Given the description of an element on the screen output the (x, y) to click on. 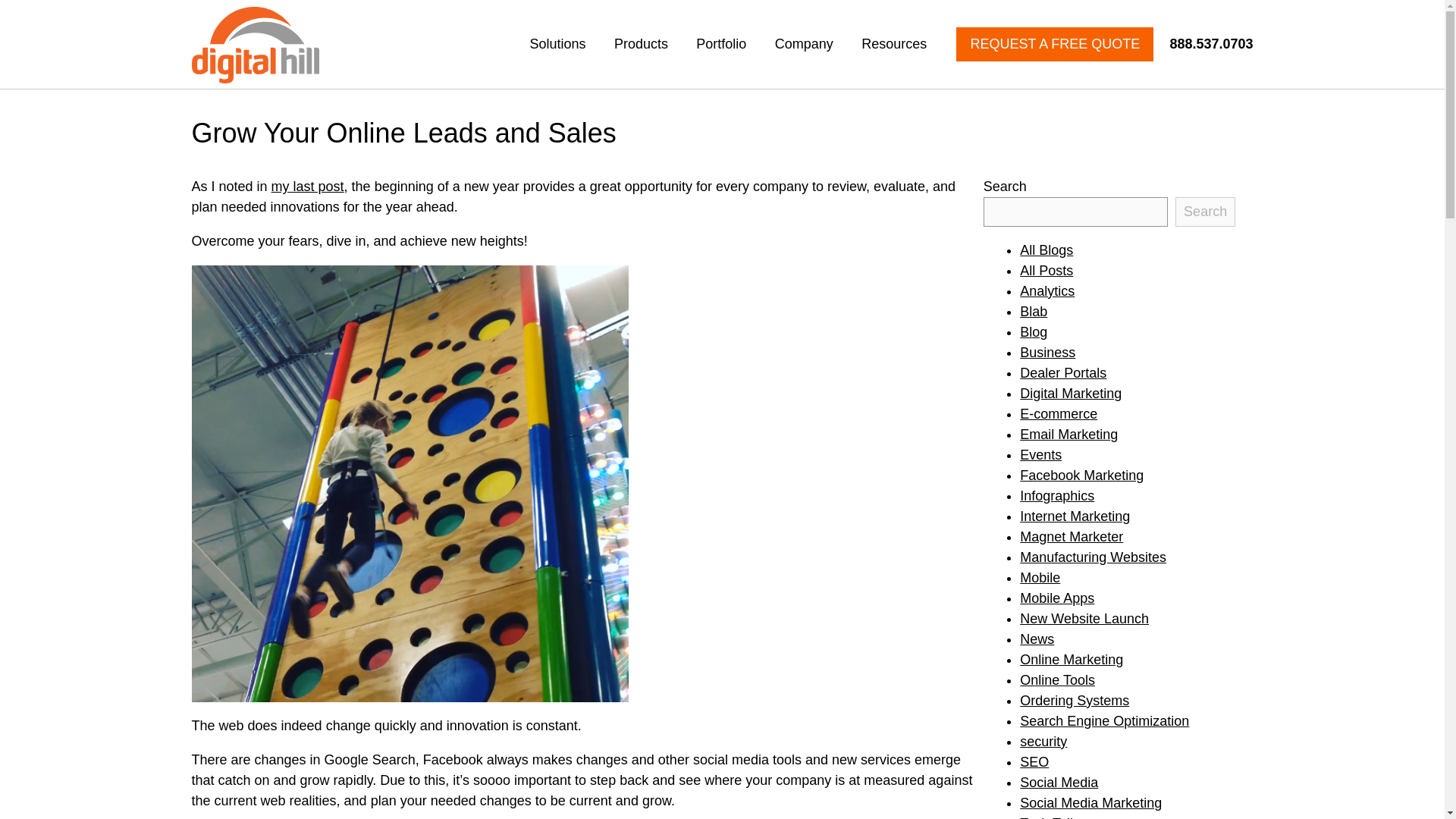
Blab (1033, 311)
Mobile Apps (1057, 598)
Blog (1033, 331)
Infographics (1057, 495)
Facebook Marketing (1081, 475)
Internet Marketing (1074, 516)
Analytics (1047, 290)
Dealer Portals (1063, 372)
my last post (306, 186)
Events (1040, 454)
How to Massively Improve your Digital Marketing in 2014 (306, 186)
Manufacturing Websites (1093, 557)
Magnet Marketer (1071, 536)
888.537.0703 (1204, 44)
All Posts (1046, 270)
